Given the description of an element on the screen output the (x, y) to click on. 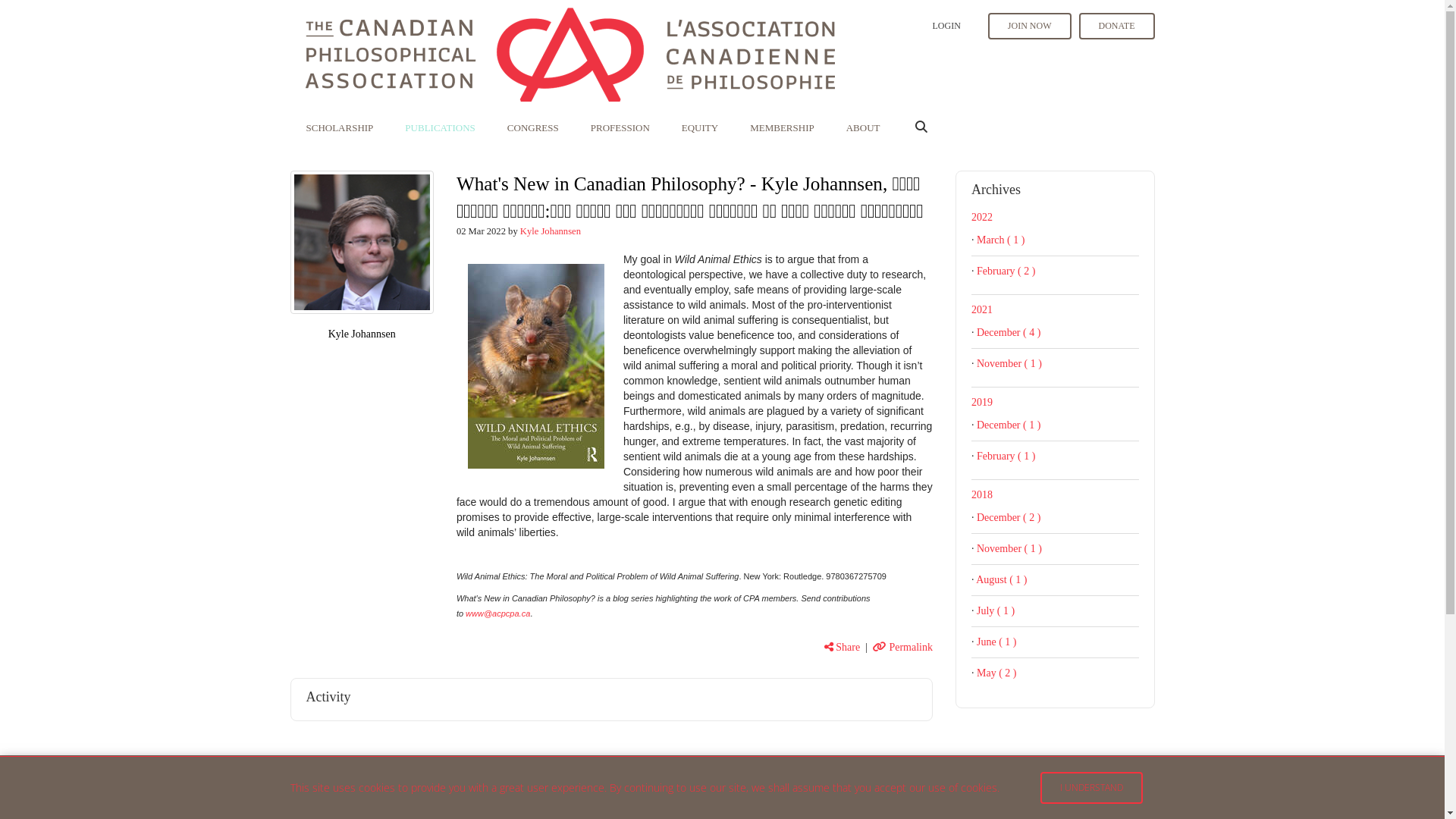
Kyle Johannsen Element type: text (361, 333)
I UNDERSTAND Element type: text (1091, 787)
MEMBERSHIP Element type: text (782, 127)
JOIN NOW Element type: text (1029, 25)
December ( 4 ) Element type: text (1008, 332)
February ( 2 ) Element type: text (1005, 270)
December ( 2 ) Element type: text (1008, 517)
DONATE Element type: text (1116, 25)
PROFESSION Element type: text (619, 127)
2018 Element type: text (981, 494)
Kyle Johannsen Element type: hover (361, 241)
August ( 1 ) Element type: text (1000, 579)
EQUITY Element type: text (699, 127)
November ( 1 ) Element type: text (1008, 363)
ABOUT Element type: text (863, 127)
May ( 2 ) Element type: text (996, 672)
LOGIN Element type: text (946, 25)
Permalink Element type: text (902, 647)
2019 Element type: text (981, 401)
PUBLICATIONS Element type: text (439, 127)
March ( 1 ) Element type: text (1000, 239)
2022 Element type: text (981, 216)
CONGRESS Element type: text (532, 127)
February ( 1 ) Element type: text (1005, 455)
July ( 1 ) Element type: text (995, 610)
www@acpcpa.ca Element type: text (497, 613)
2021 Element type: text (981, 309)
SCHOLARSHIP Element type: text (339, 127)
Kyle Johannsen Element type: text (550, 230)
November ( 1 ) Element type: text (1008, 548)
June ( 1 ) Element type: text (996, 641)
Share Element type: text (841, 646)
December ( 1 ) Element type: text (1008, 424)
